Given the description of an element on the screen output the (x, y) to click on. 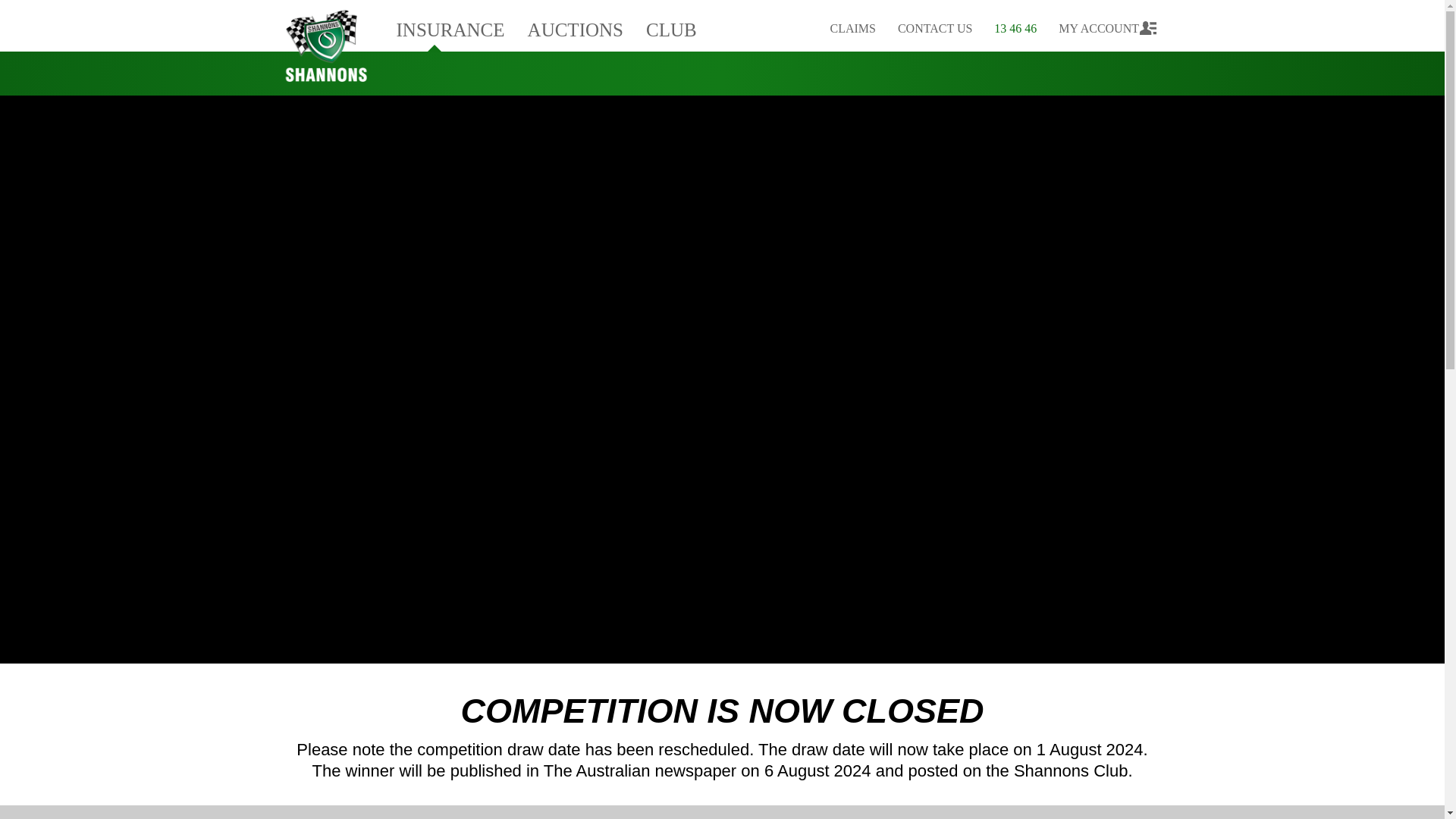
CLUB (670, 25)
INSURANCE (450, 25)
AUCTIONS (575, 25)
